Given the description of an element on the screen output the (x, y) to click on. 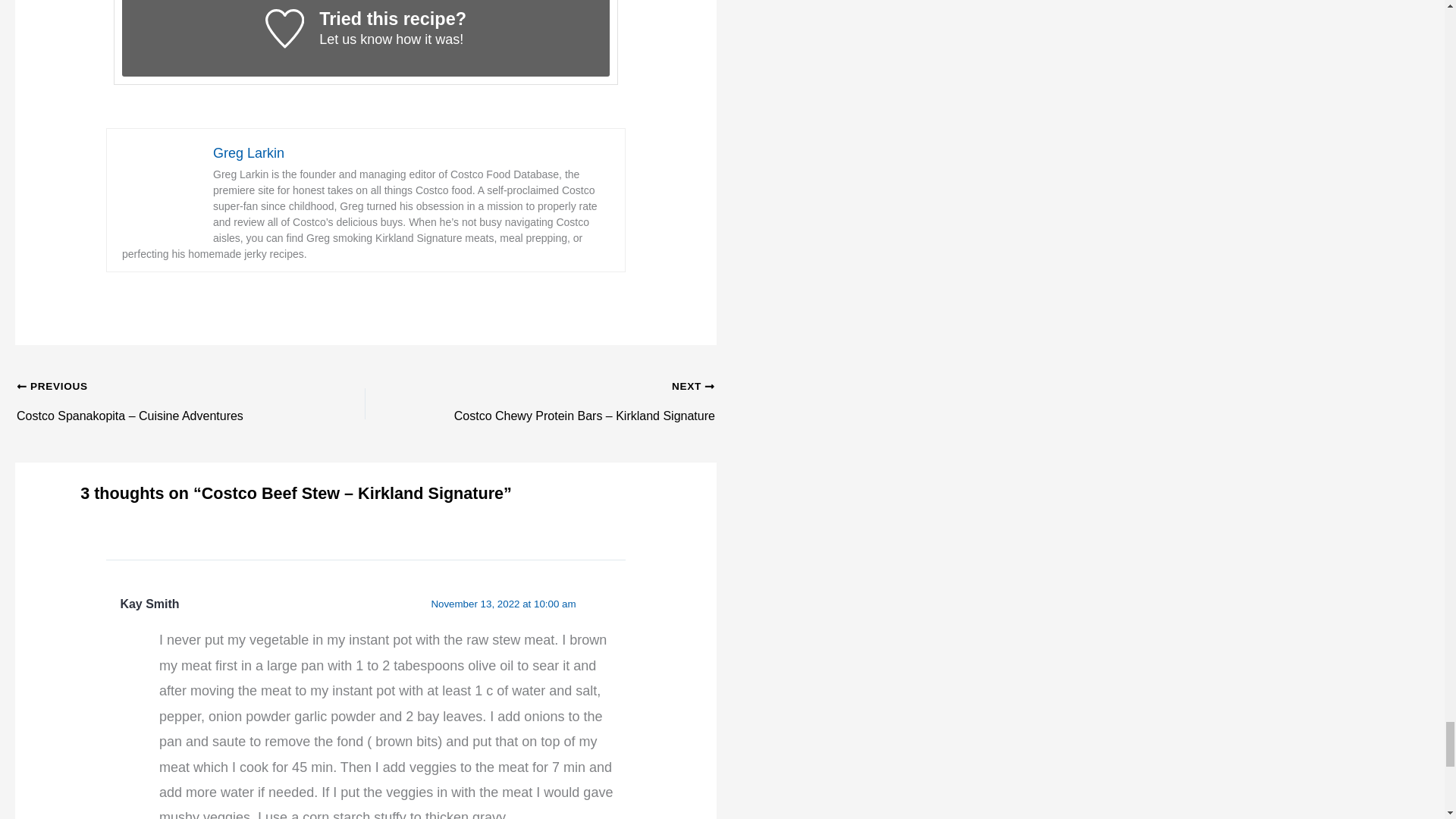
Greg Larkin (247, 152)
November 13, 2022 at 10:00 am (502, 603)
Let us know (354, 38)
